Given the description of an element on the screen output the (x, y) to click on. 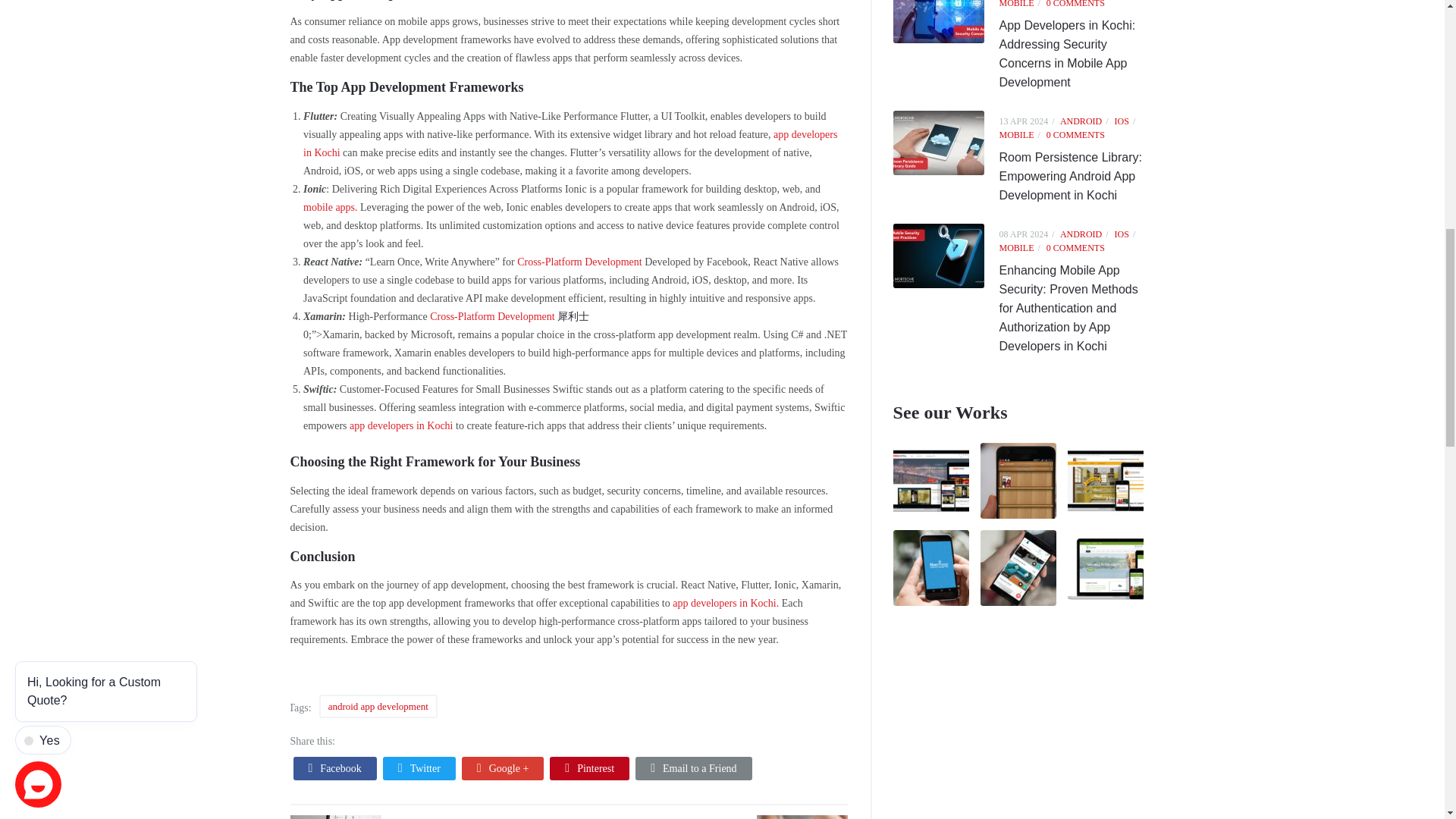
app developers in Kochi (569, 143)
Cross-Platform Development (493, 316)
Customall eCommerce development (1104, 480)
mobile apps. (330, 206)
android app development (378, 706)
app developers in Kochi. (725, 603)
Pinterest (589, 768)
Facebook (333, 768)
Twitter (418, 768)
Chatterpillar Mobile App (1017, 480)
Facebook (333, 768)
Email to a Friend (692, 768)
